Given the description of an element on the screen output the (x, y) to click on. 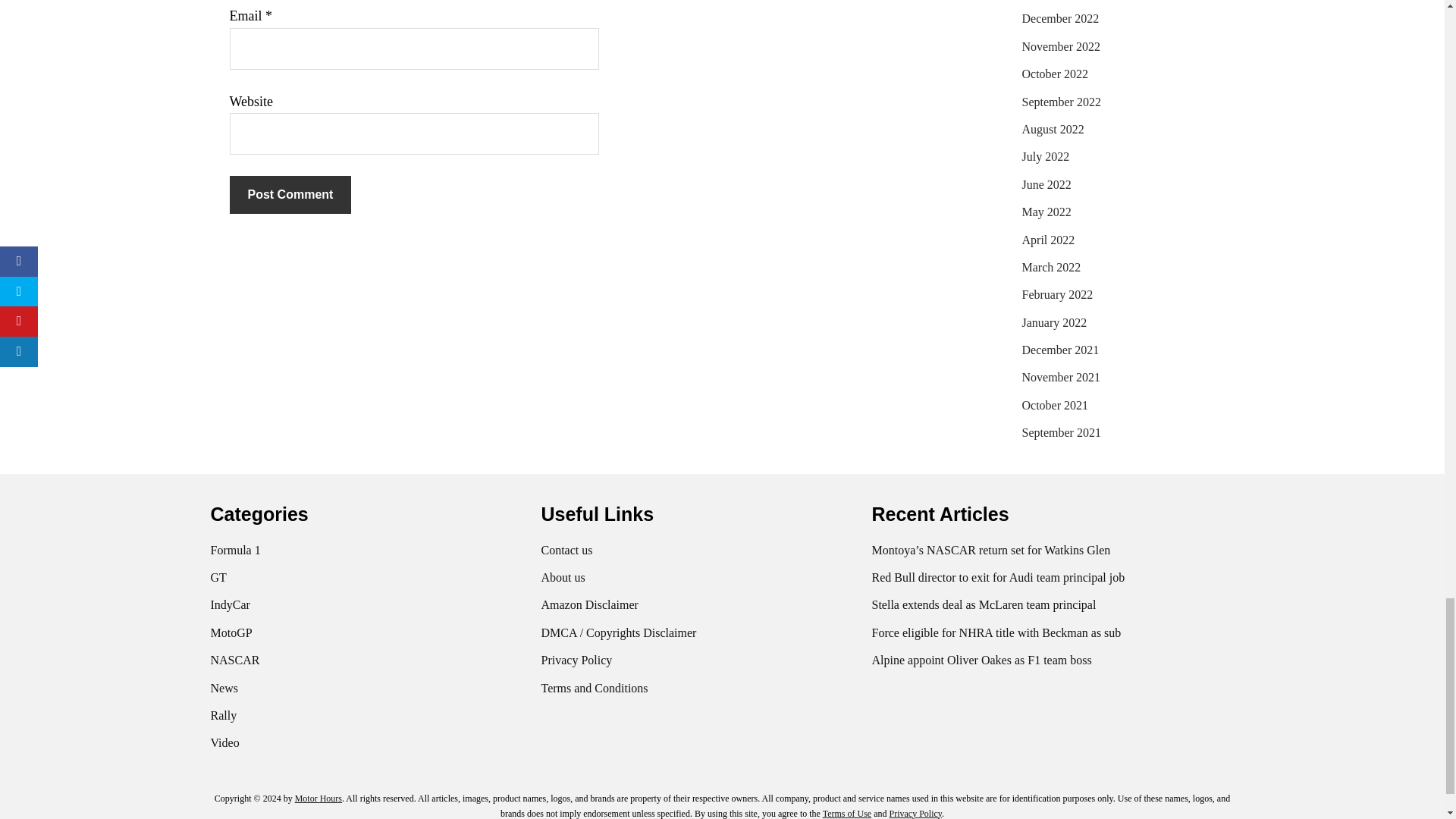
Post Comment (289, 194)
